Given the description of an element on the screen output the (x, y) to click on. 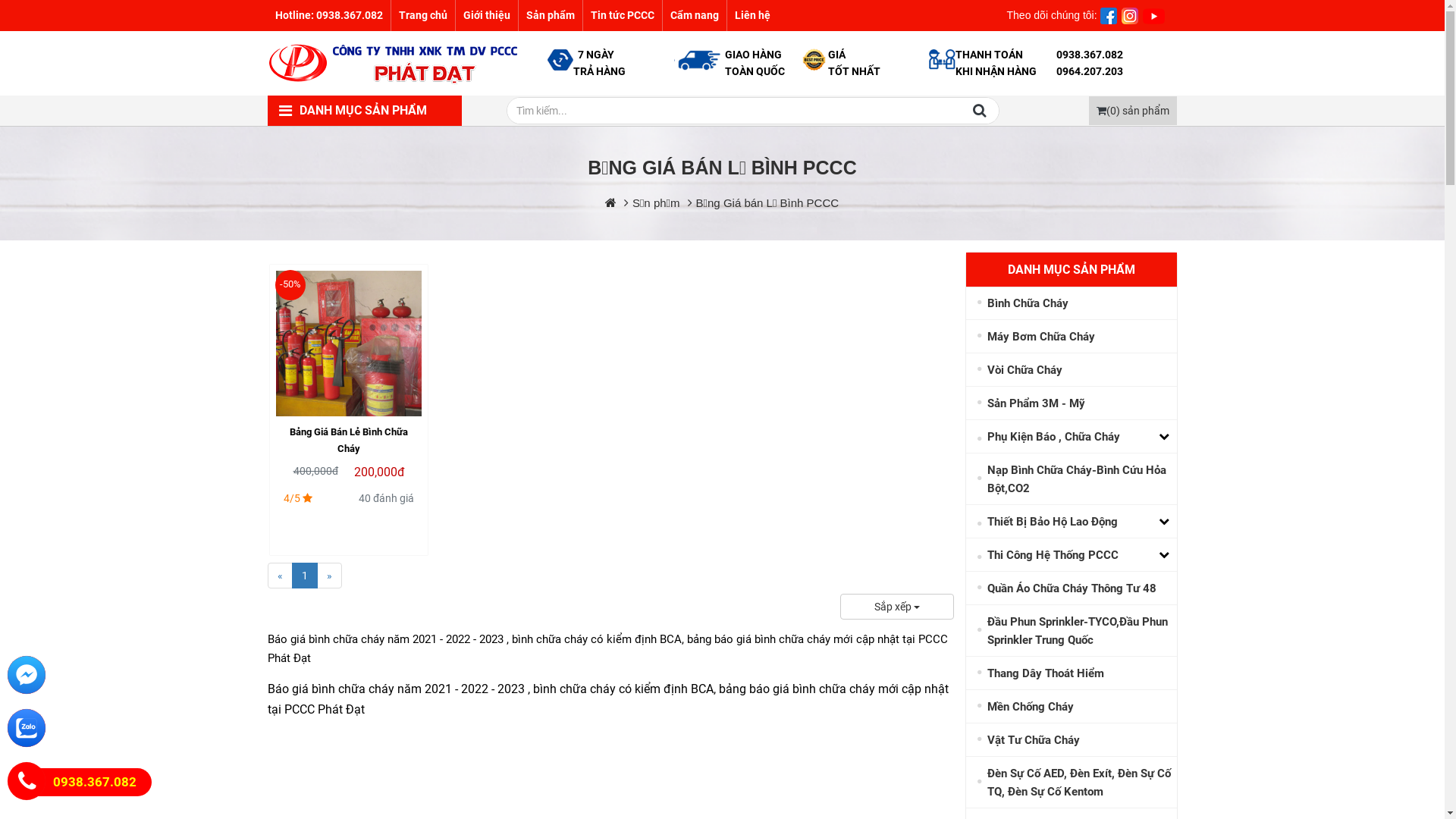
  Element type: text (1098, 15)
https://114pccc.com/ Element type: hover (610, 202)
INTRO ON TOP Element type: hover (1128, 15)
INTRO ON TOP Element type: hover (1153, 15)
114PCCC.com Element type: hover (393, 62)
Hotline: 0938.367.082 Element type: text (328, 15)
1 Element type: text (303, 575)
INTRO ON TOP Element type: hover (1107, 15)
